Given the description of an element on the screen output the (x, y) to click on. 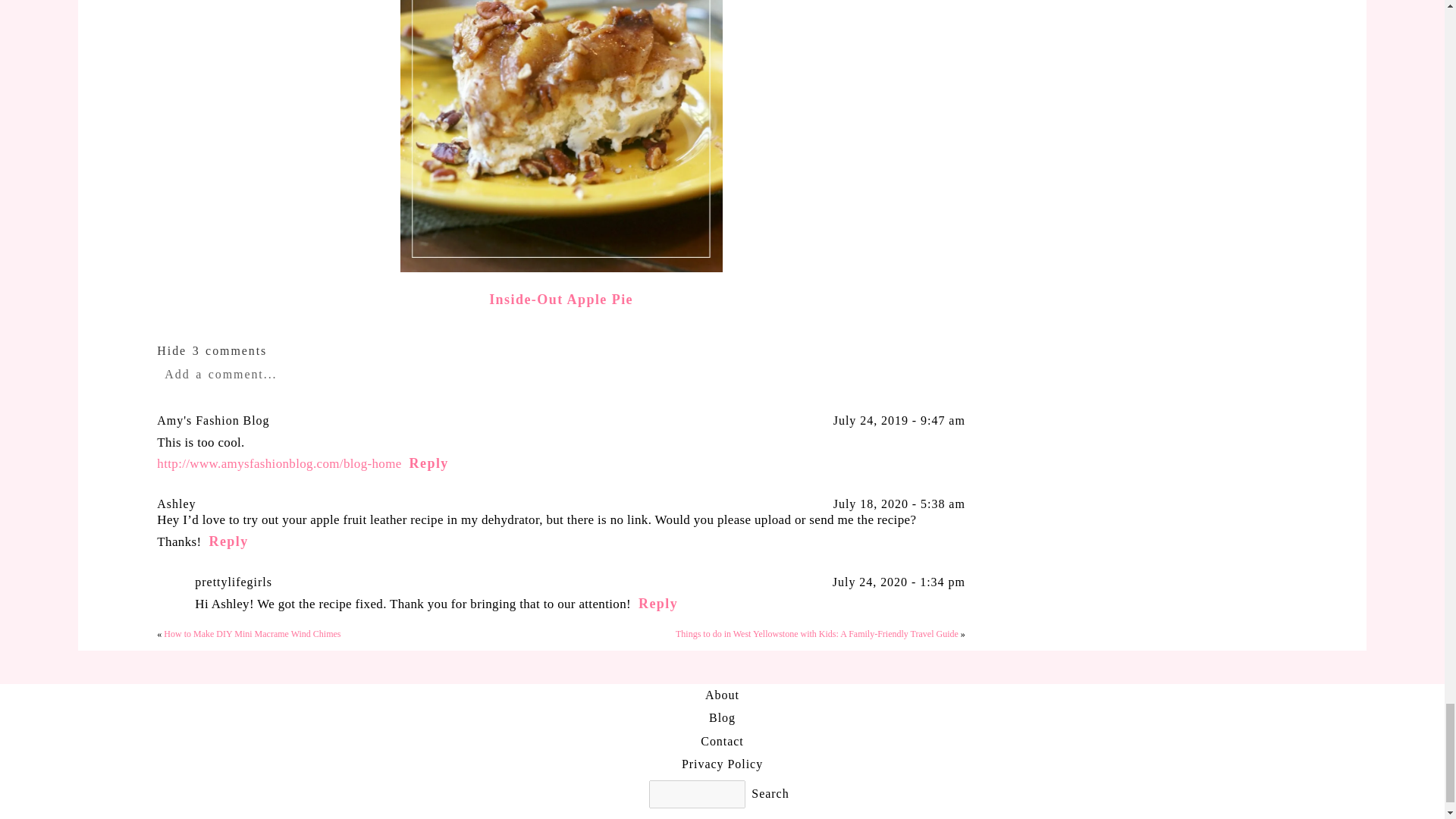
Search (770, 793)
Search (770, 793)
Inside-Out Apple Pie (561, 299)
